Given the description of an element on the screen output the (x, y) to click on. 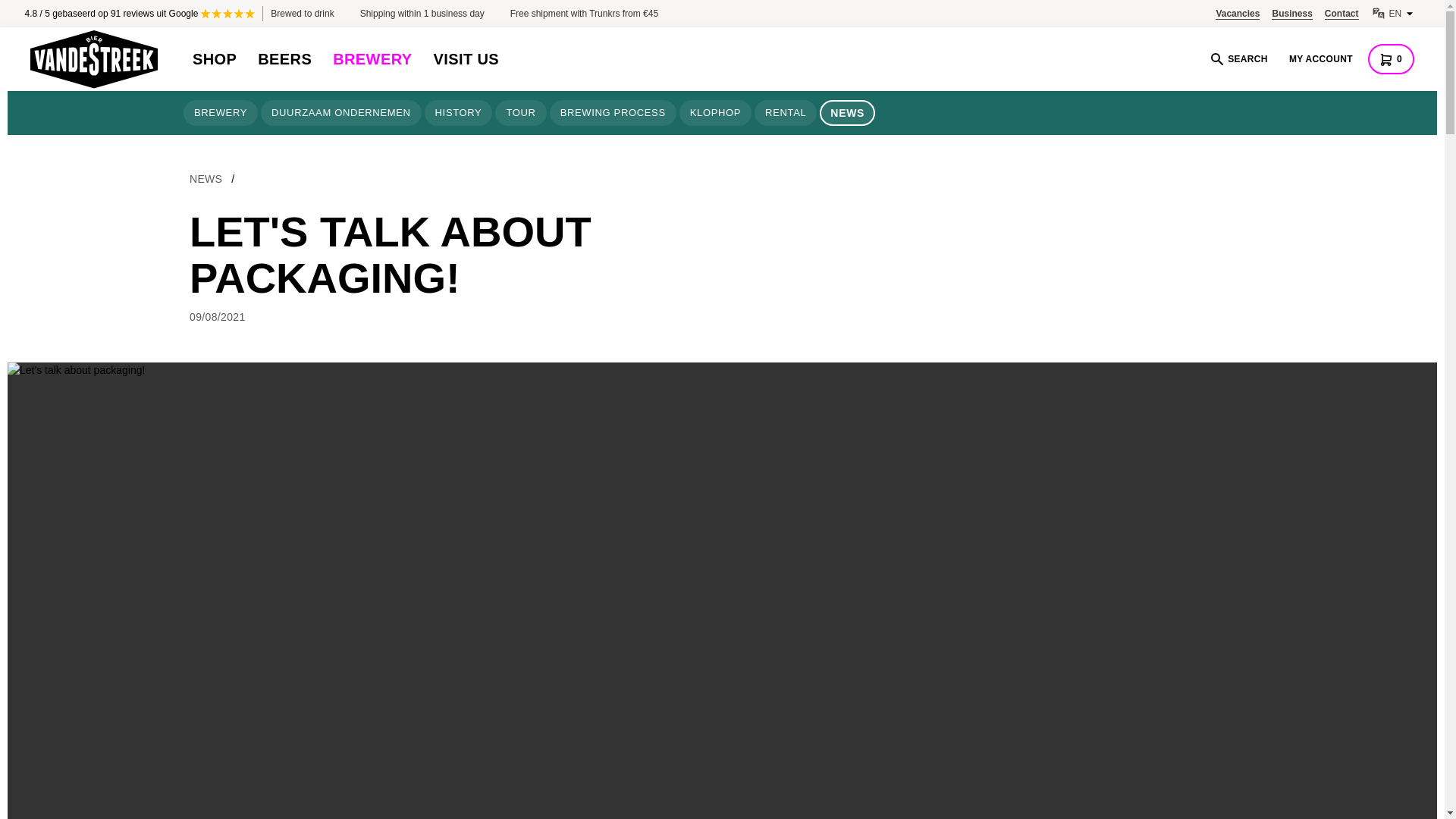
Vacancies (1237, 13)
NEWS (205, 178)
BREWERY (371, 58)
Business (1291, 13)
SHOP (214, 58)
RENTAL (785, 112)
SEARCH (1238, 58)
BEERS (284, 58)
0 (1390, 59)
KLOPHOP (715, 112)
DUURZAAM ONDERNEMEN (341, 112)
TOUR (520, 112)
HISTORY (459, 112)
BREWERY (220, 112)
Contact (1341, 13)
